Given the description of an element on the screen output the (x, y) to click on. 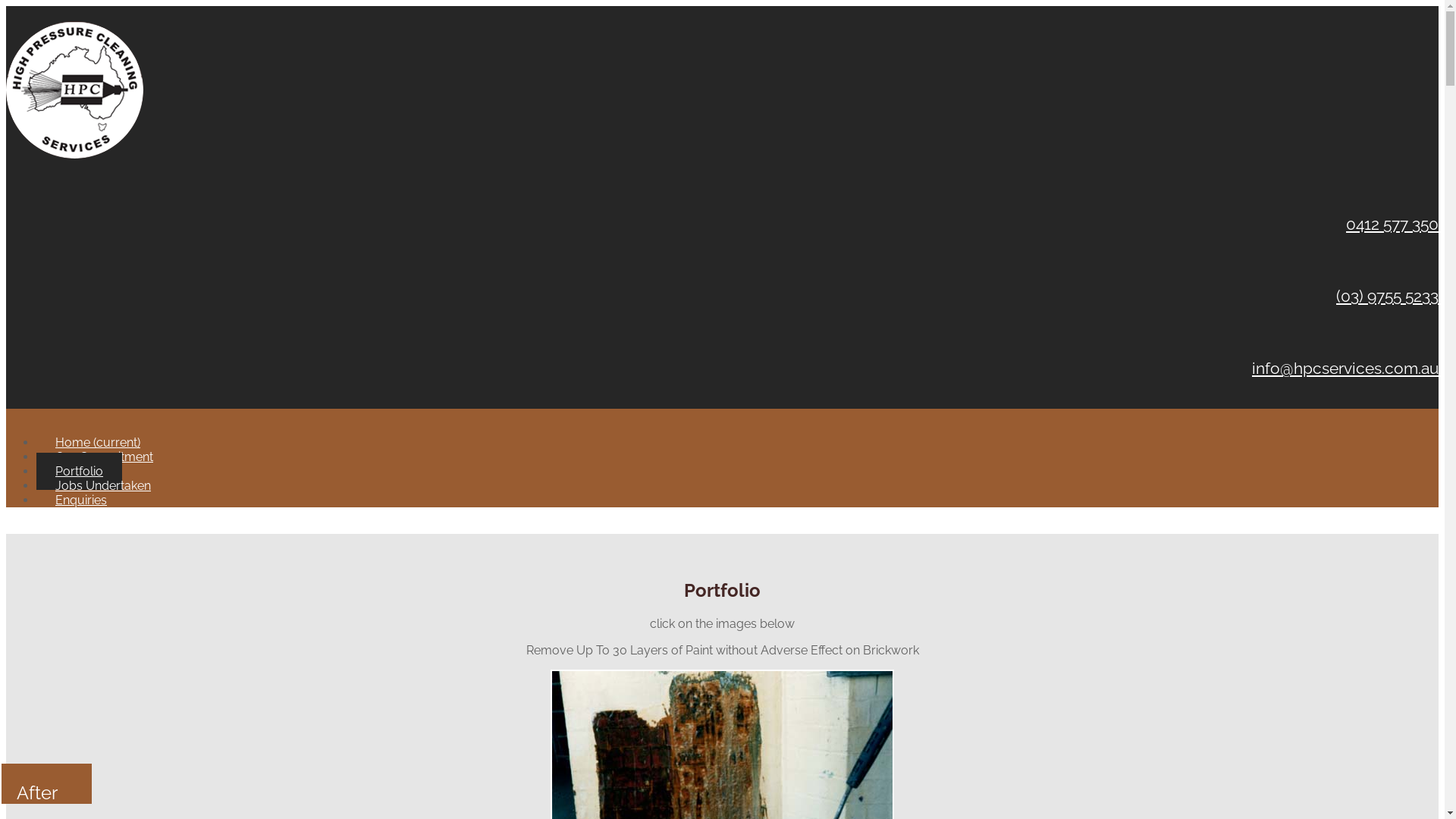
Portfolio Element type: text (79, 470)
(03) 9755 5233 Element type: text (1387, 295)
Jobs Undertaken Element type: text (102, 485)
Enquiries Element type: text (80, 499)
x Element type: text (9, 526)
info@hpcservices.com.au Element type: text (1345, 367)
Our Commitment Element type: text (104, 456)
0412 577 350 Element type: text (1392, 223)
Home (current) Element type: text (97, 442)
